Given the description of an element on the screen output the (x, y) to click on. 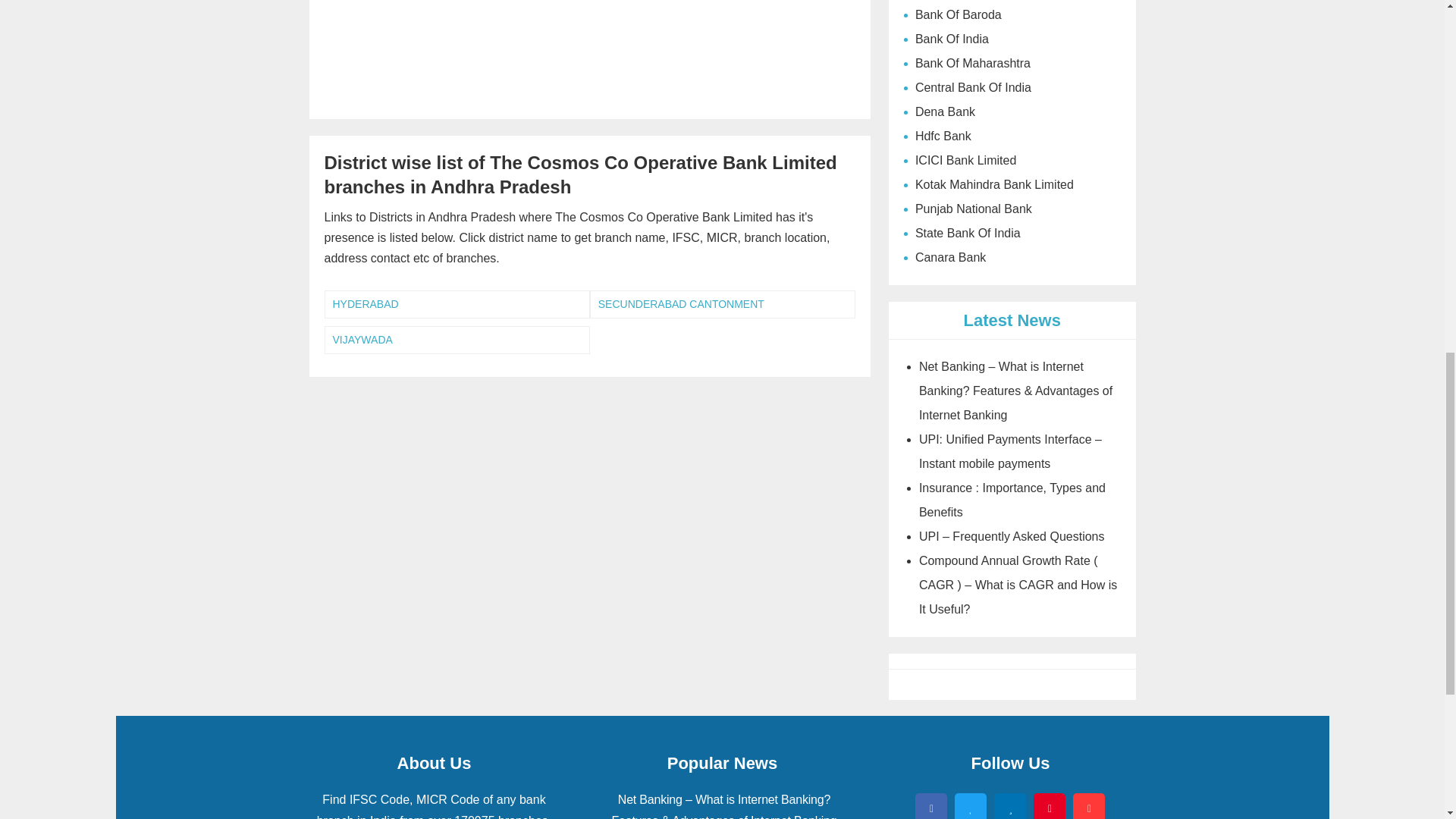
Bank Of India (1012, 39)
VIJAYWADA (456, 339)
Central Bank Of India (1012, 87)
Bank Of Maharashtra (1012, 63)
Bank Of Baroda (1012, 15)
Advertisement (590, 52)
Axis Bank (1012, 1)
SECUNDERABAD CANTONMENT (722, 304)
HYDERABAD (456, 304)
